Given the description of an element on the screen output the (x, y) to click on. 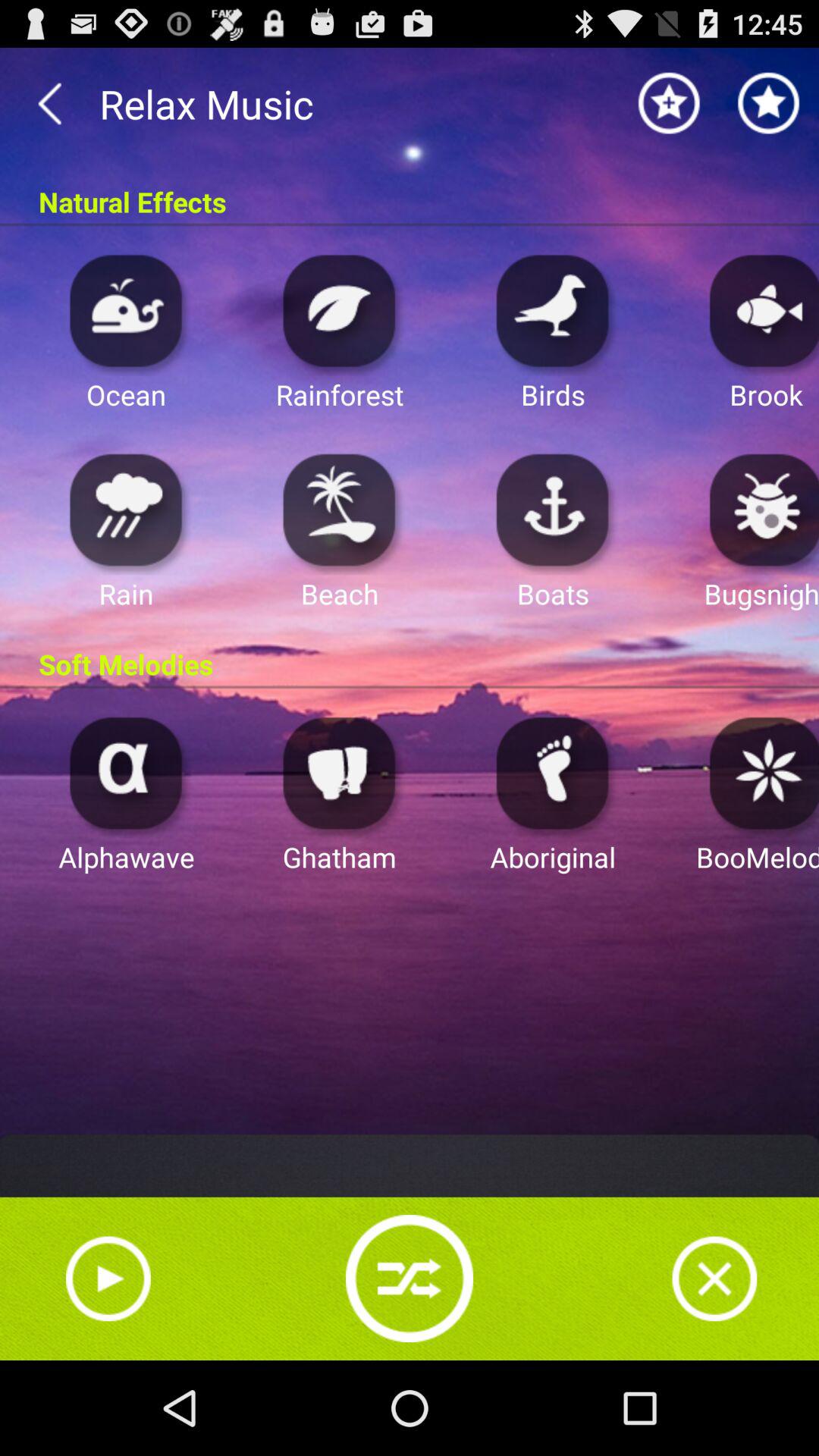
open ghatham (339, 772)
